Given the description of an element on the screen output the (x, y) to click on. 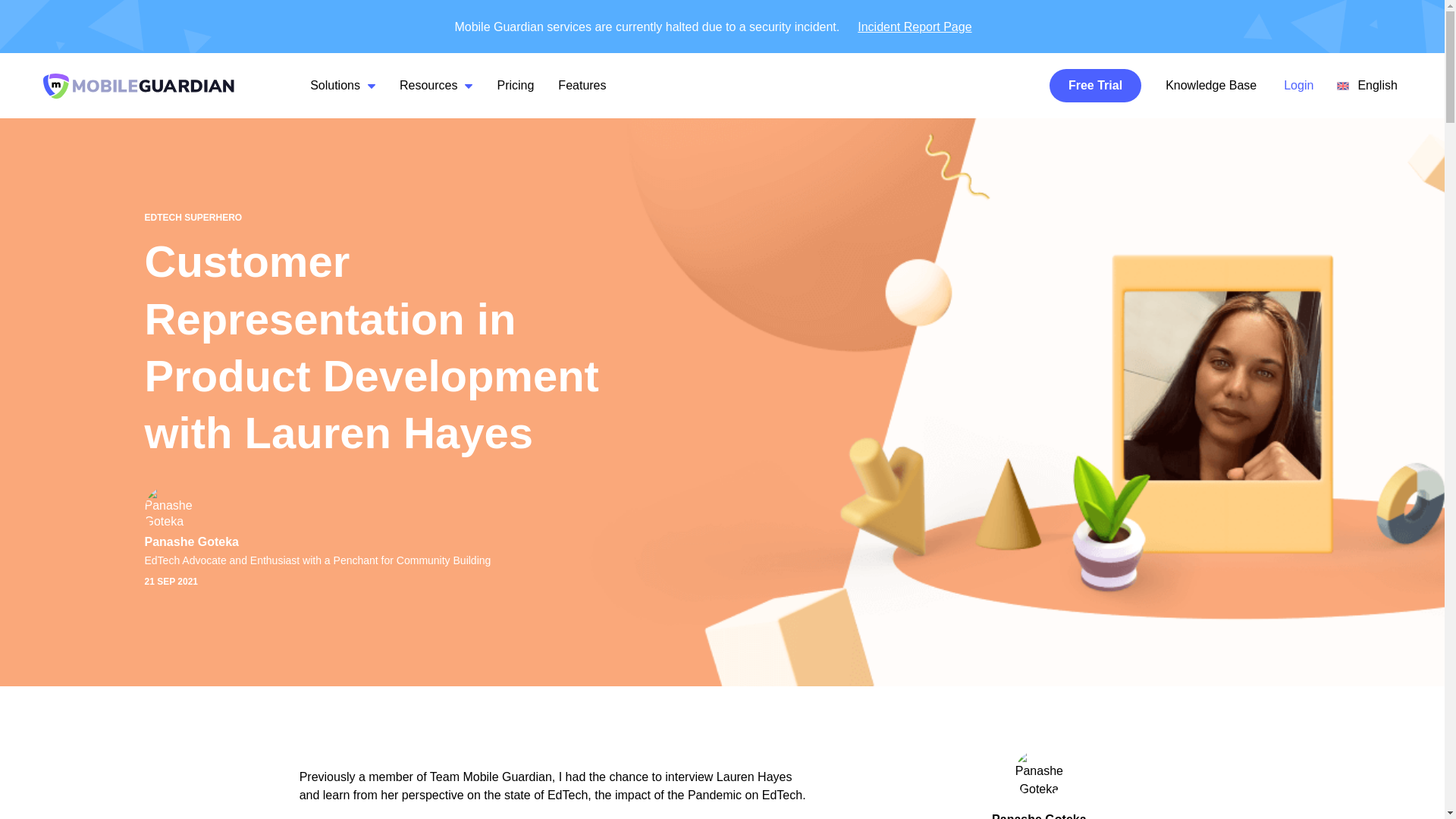
Pricing (515, 85)
Resources (427, 85)
Login (1298, 85)
Incident Report Page (915, 27)
Knowledge Base (1211, 85)
Solutions (334, 92)
Features (581, 85)
English (1366, 85)
Free Trial (1095, 85)
